Given the description of an element on the screen output the (x, y) to click on. 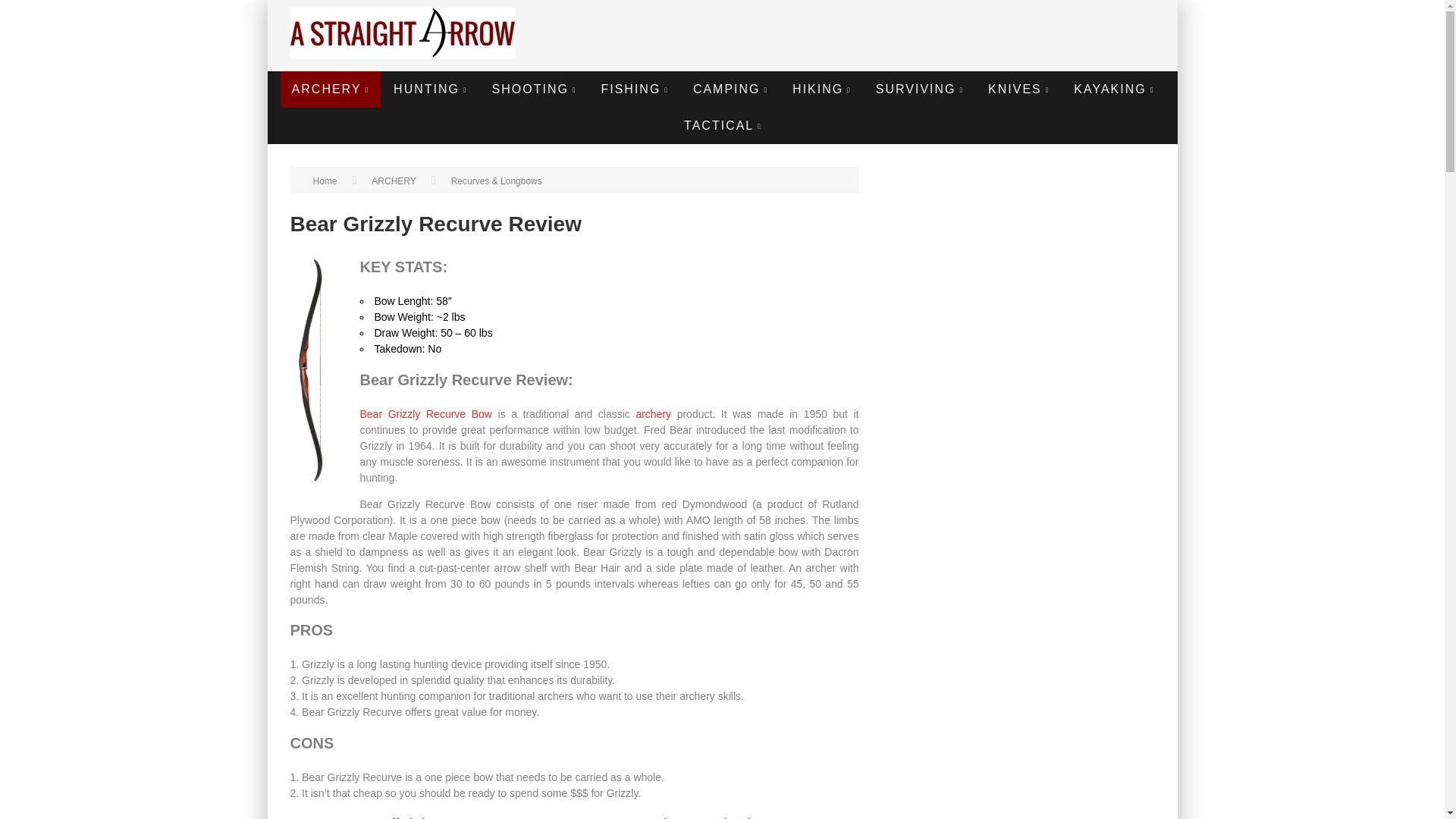
SHOOTING (534, 89)
ARCHERY (331, 89)
HUNTING (430, 89)
View all posts in ARCHERY (392, 181)
